Given the description of an element on the screen output the (x, y) to click on. 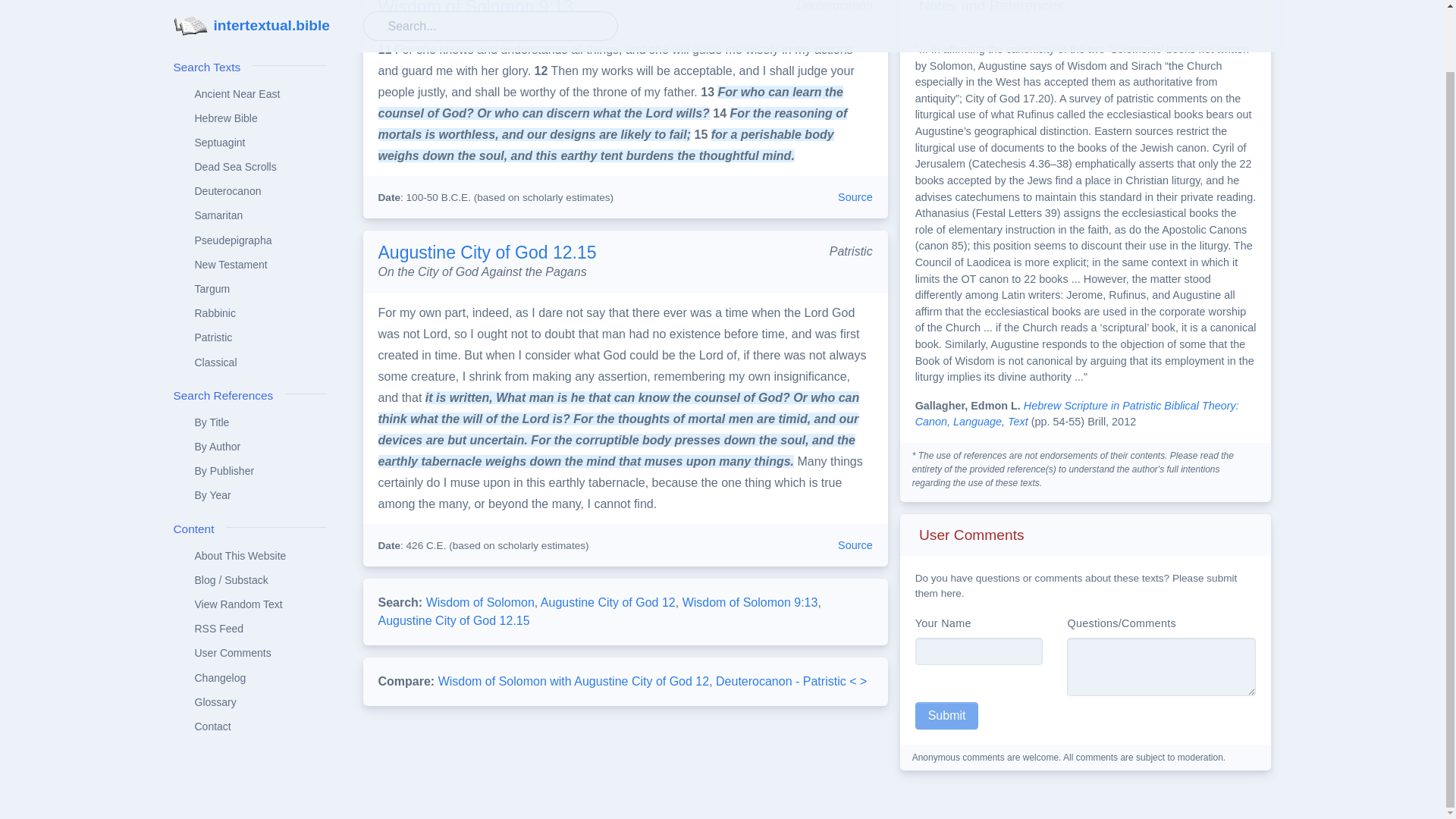
Wisdom of Solomon 9:13 (750, 602)
Wisdom of Solomon with Augustine City of God 12 (574, 680)
Wisdom of Solomon 9:14 (612, 123)
Contact (249, 658)
Wisdom of Solomon 9:11 (614, 59)
By Publisher (249, 404)
Dead Sea Scrolls (249, 98)
New Testament (249, 197)
Pseudepigrapha (249, 172)
Patristic (249, 270)
